Given the description of an element on the screen output the (x, y) to click on. 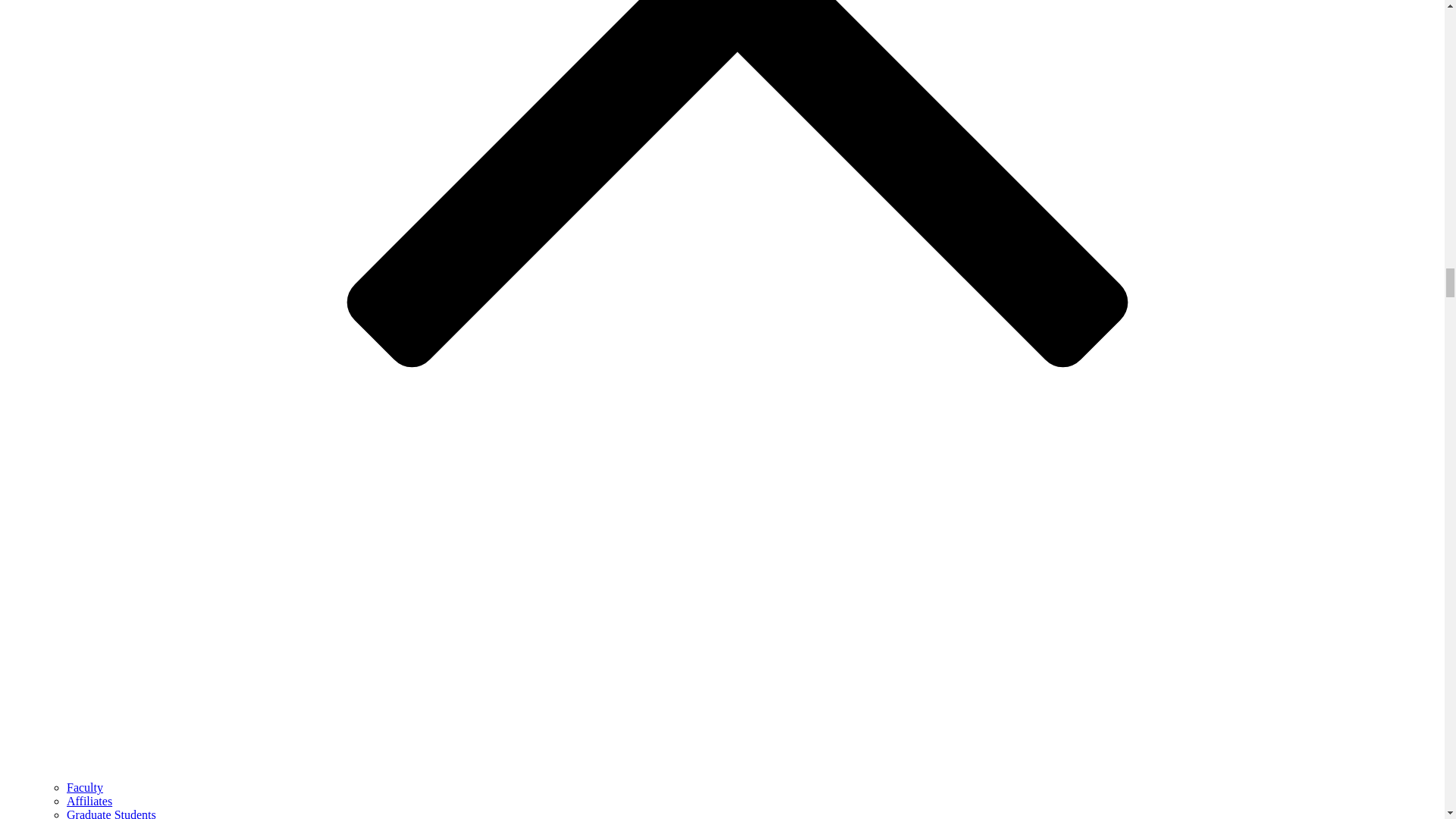
Faculty (84, 787)
Graduate Students (110, 813)
Affiliates (89, 800)
